Given the description of an element on the screen output the (x, y) to click on. 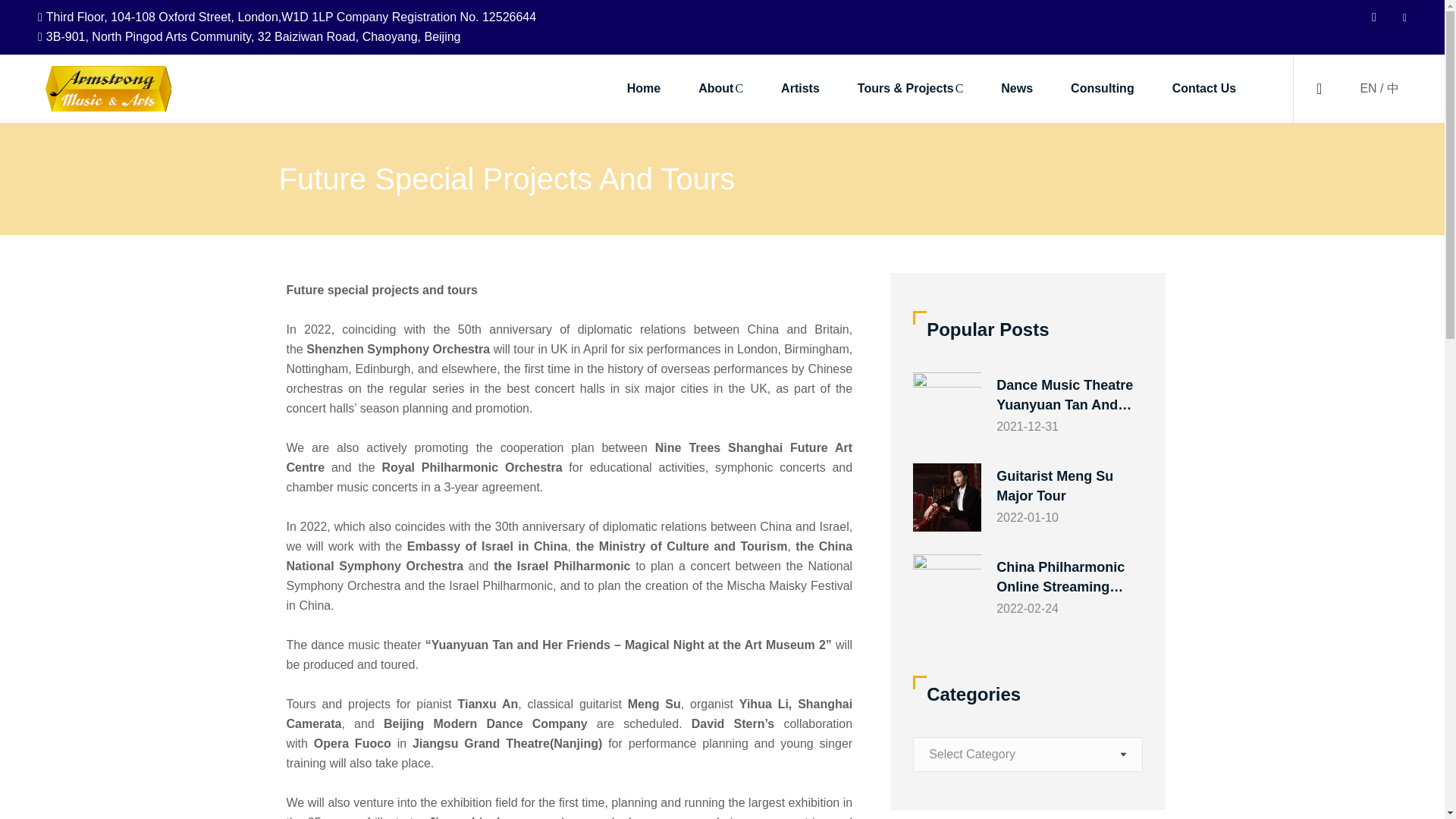
About (720, 88)
Artists (799, 88)
EN (1367, 88)
Consulting (1102, 88)
Home (643, 88)
News (1016, 88)
Contact Us (1204, 88)
